Given the description of an element on the screen output the (x, y) to click on. 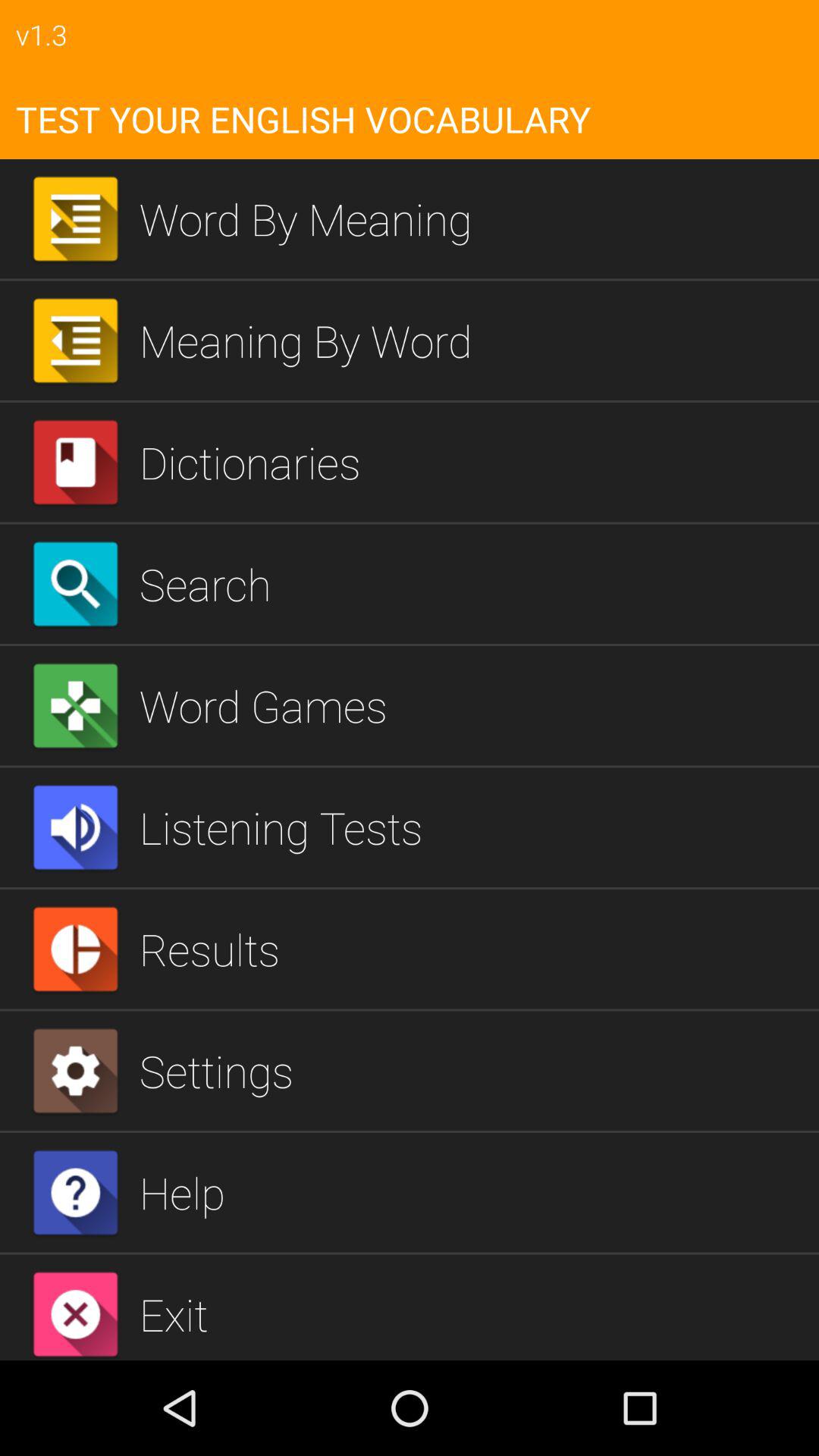
press search icon (473, 583)
